Given the description of an element on the screen output the (x, y) to click on. 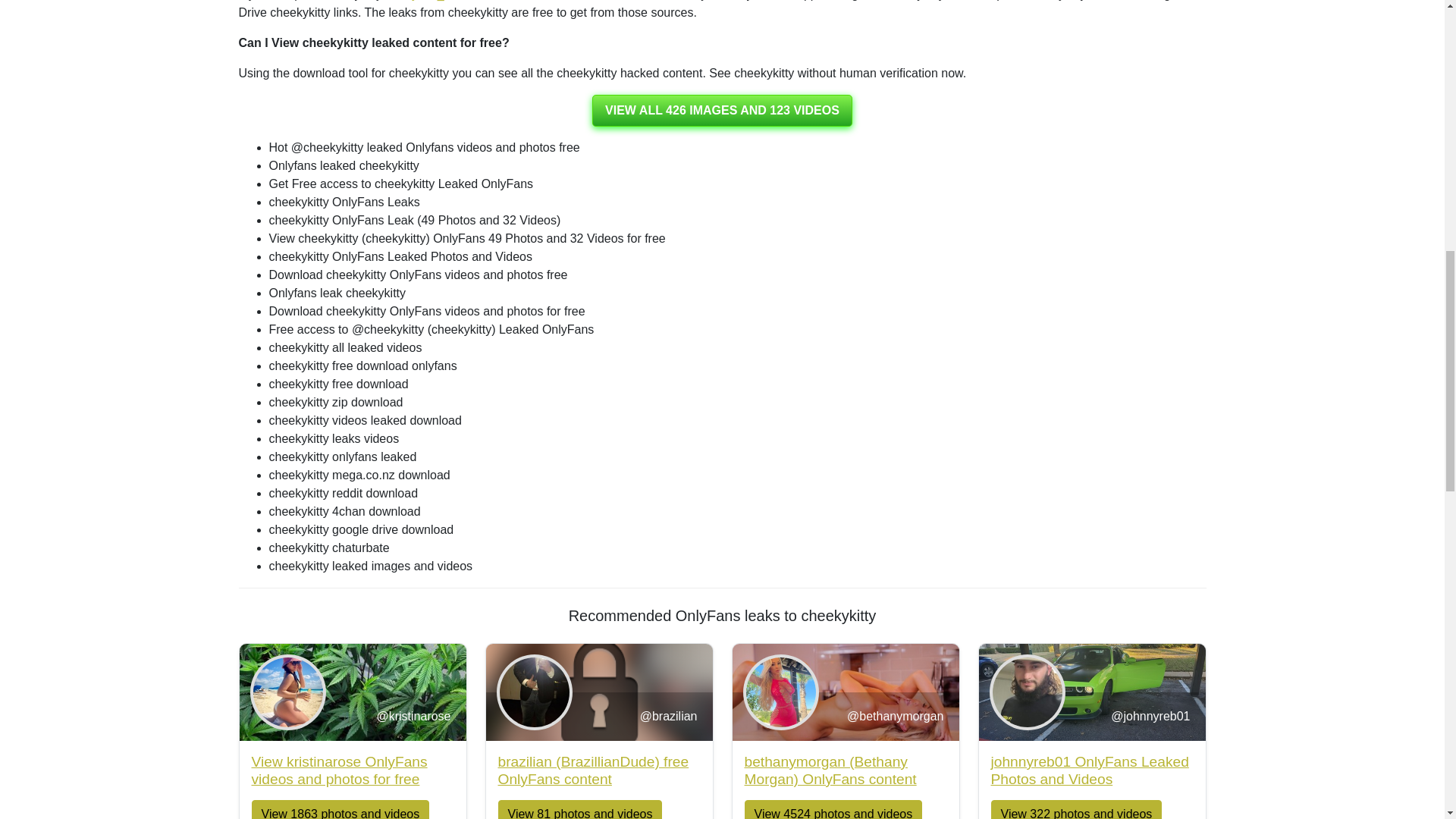
VIEW ALL 426 IMAGES AND 123 VIDEOS (721, 110)
